Given the description of an element on the screen output the (x, y) to click on. 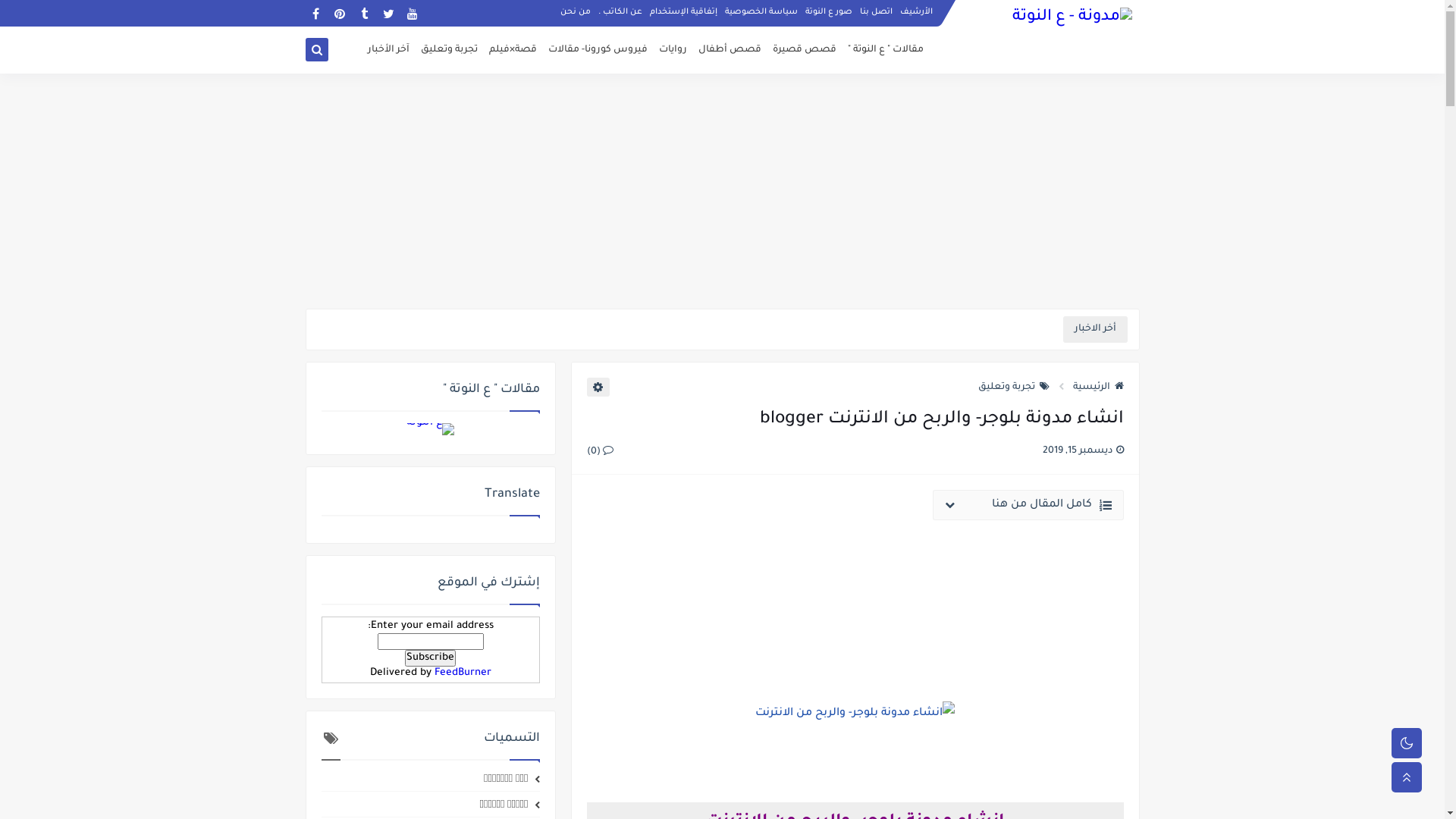
pinterest Element type: hover (339, 13)
Advertisement Element type: hover (854, 597)
(0) Element type: text (599, 450)
facebook Element type: hover (314, 13)
tumblr Element type: hover (363, 13)
FeedBurner Element type: text (461, 672)
Subscribe Element type: text (429, 657)
youtube Element type: hover (411, 13)
Advertisement Element type: hover (721, 190)
twitter Element type: hover (387, 13)
